Given the description of an element on the screen output the (x, y) to click on. 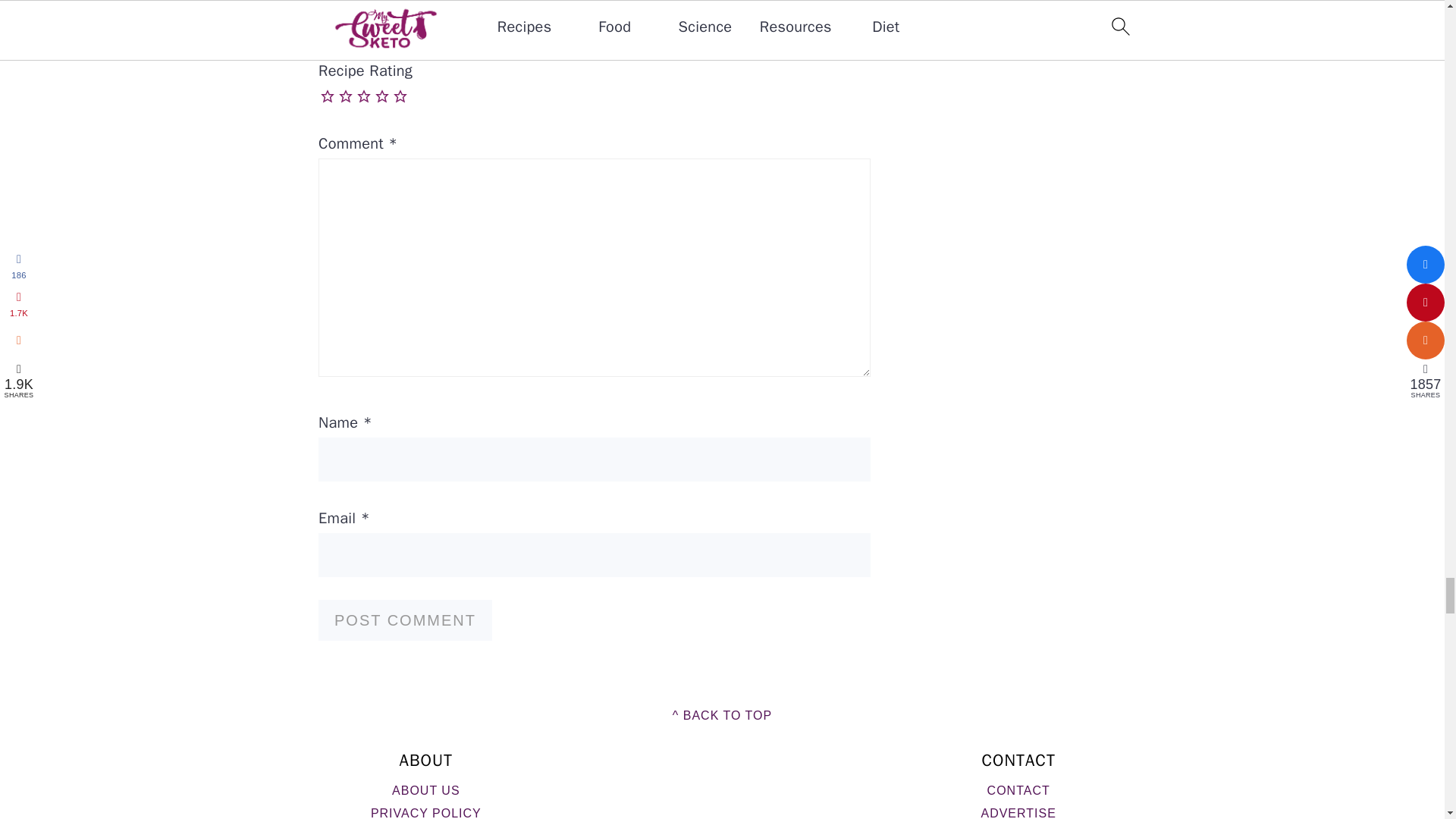
Post Comment (405, 619)
